Given the description of an element on the screen output the (x, y) to click on. 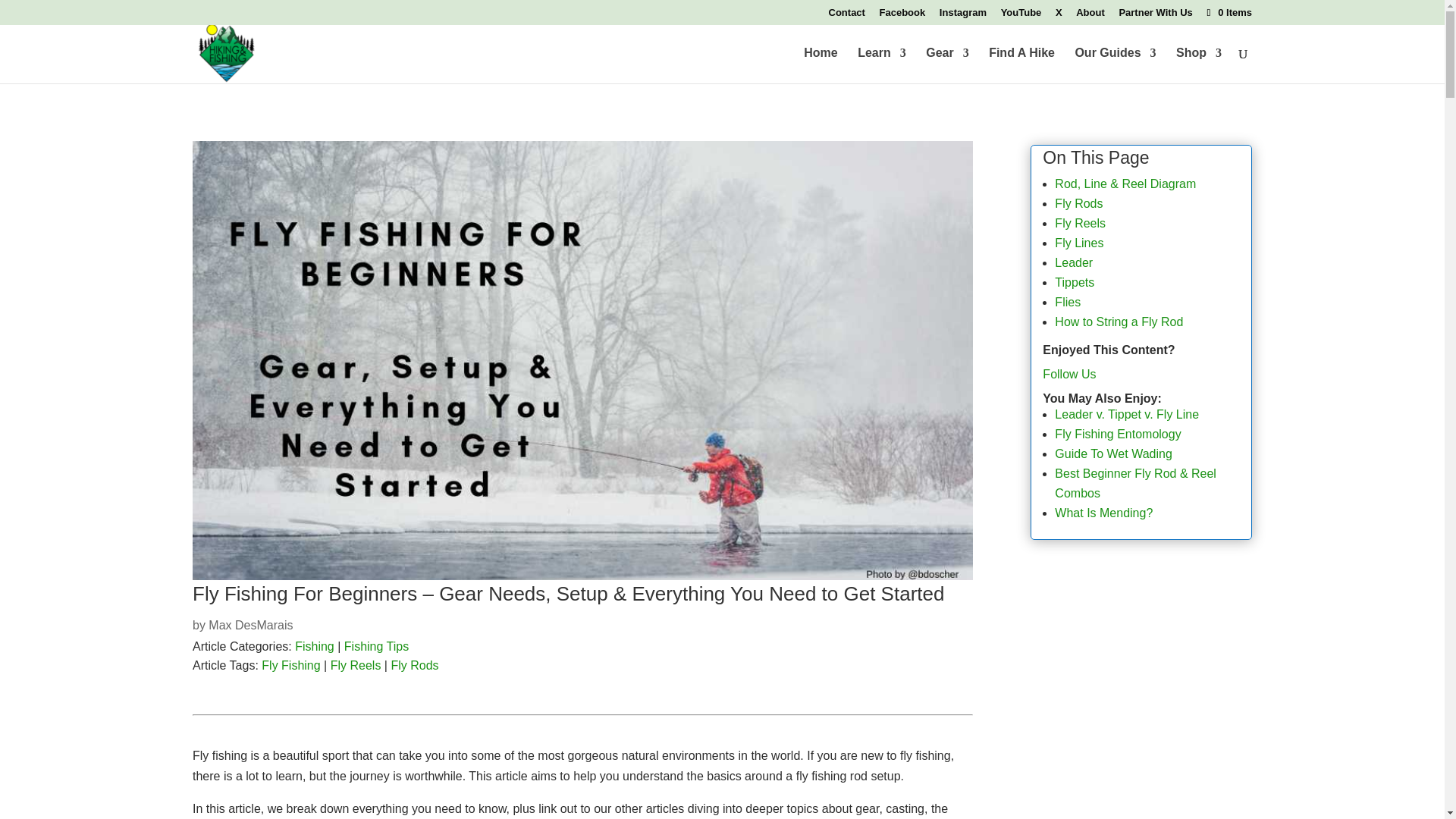
Guided Hiking Trips (1115, 65)
Contact (846, 16)
Posts by Max DesMarais (250, 625)
Gear (947, 65)
YouTube (1021, 16)
Facebook (902, 16)
Our Guides (1115, 65)
About (1090, 16)
Instagram (963, 16)
